Given the description of an element on the screen output the (x, y) to click on. 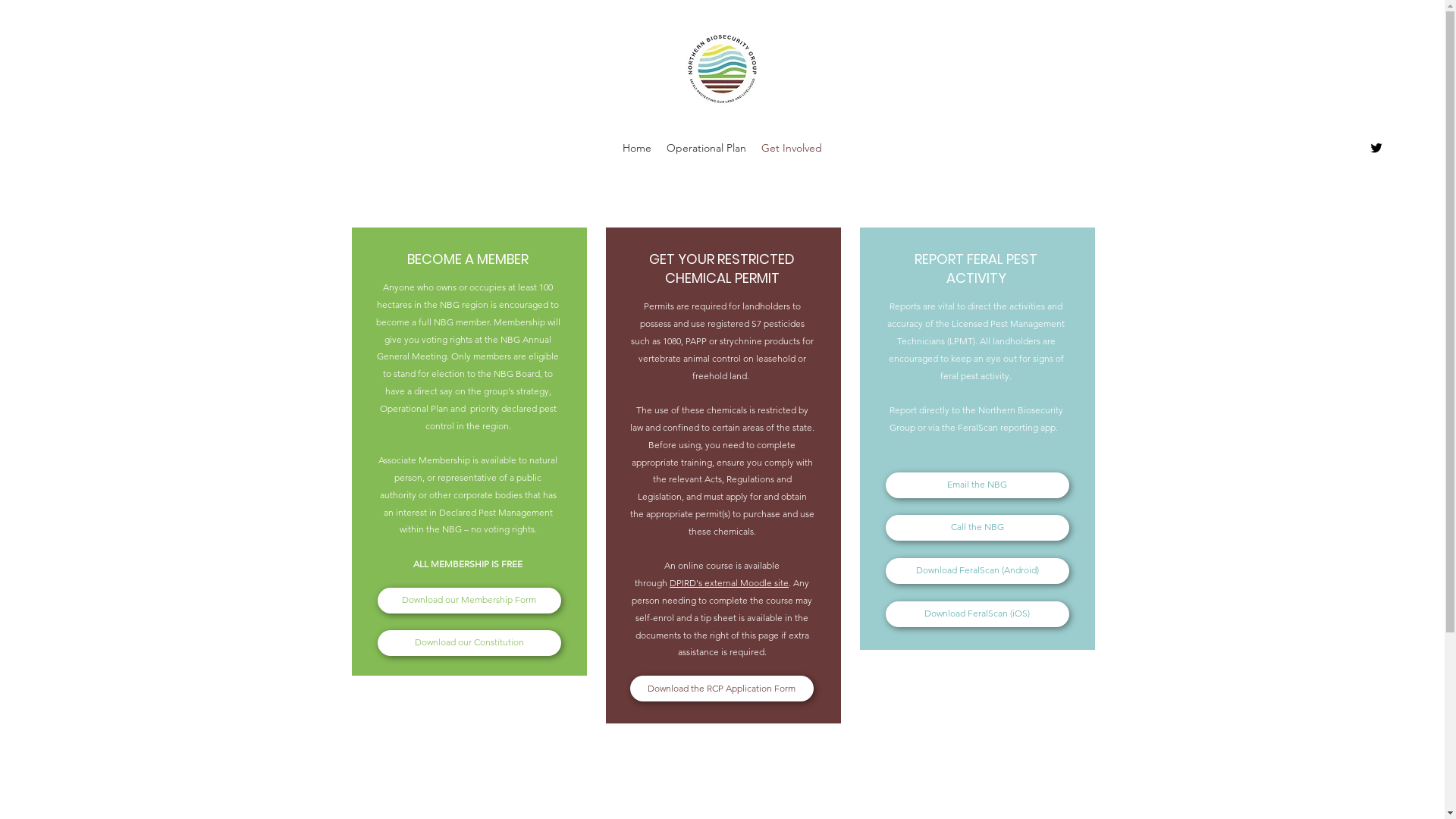
DPIRD's external Moodle site Element type: text (728, 582)
Download FeralScan (iOS) Element type: text (977, 614)
Download FeralScan (Android) Element type: text (977, 570)
Get Involved Element type: text (791, 147)
Download our Constitution Element type: text (469, 642)
FeralScan Element type: text (977, 427)
Download our Membership Form Element type: text (469, 600)
Call the NBG Element type: text (977, 527)
Download the RCP Application Form Element type: text (720, 688)
Home Element type: text (636, 147)
Email the NBG Element type: text (977, 485)
Operational Plan Element type: text (705, 147)
